Given the description of an element on the screen output the (x, y) to click on. 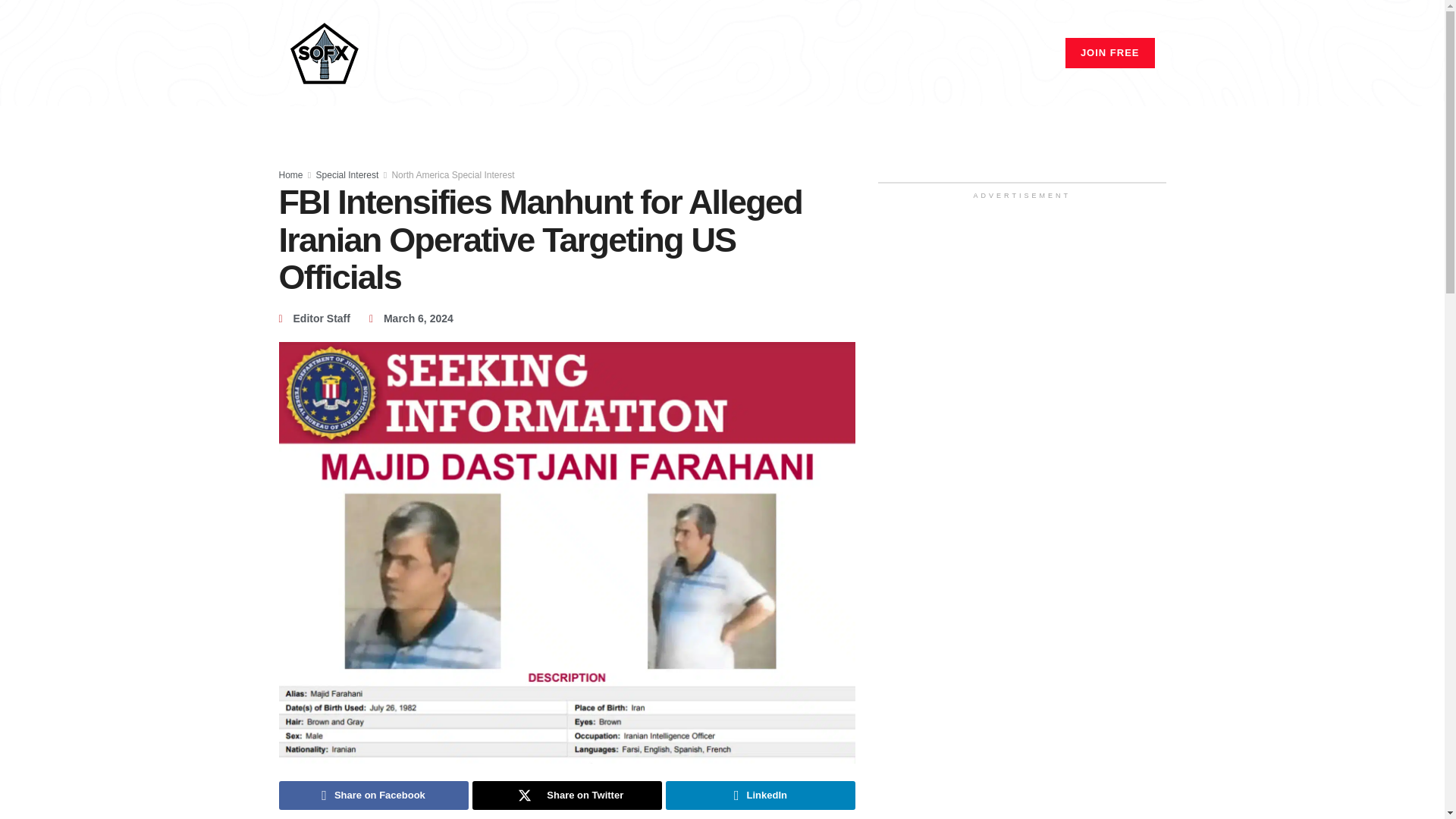
Resources (980, 52)
News (700, 52)
Market (833, 52)
Home (651, 52)
Intelligence (902, 52)
Community (765, 52)
